Given the description of an element on the screen output the (x, y) to click on. 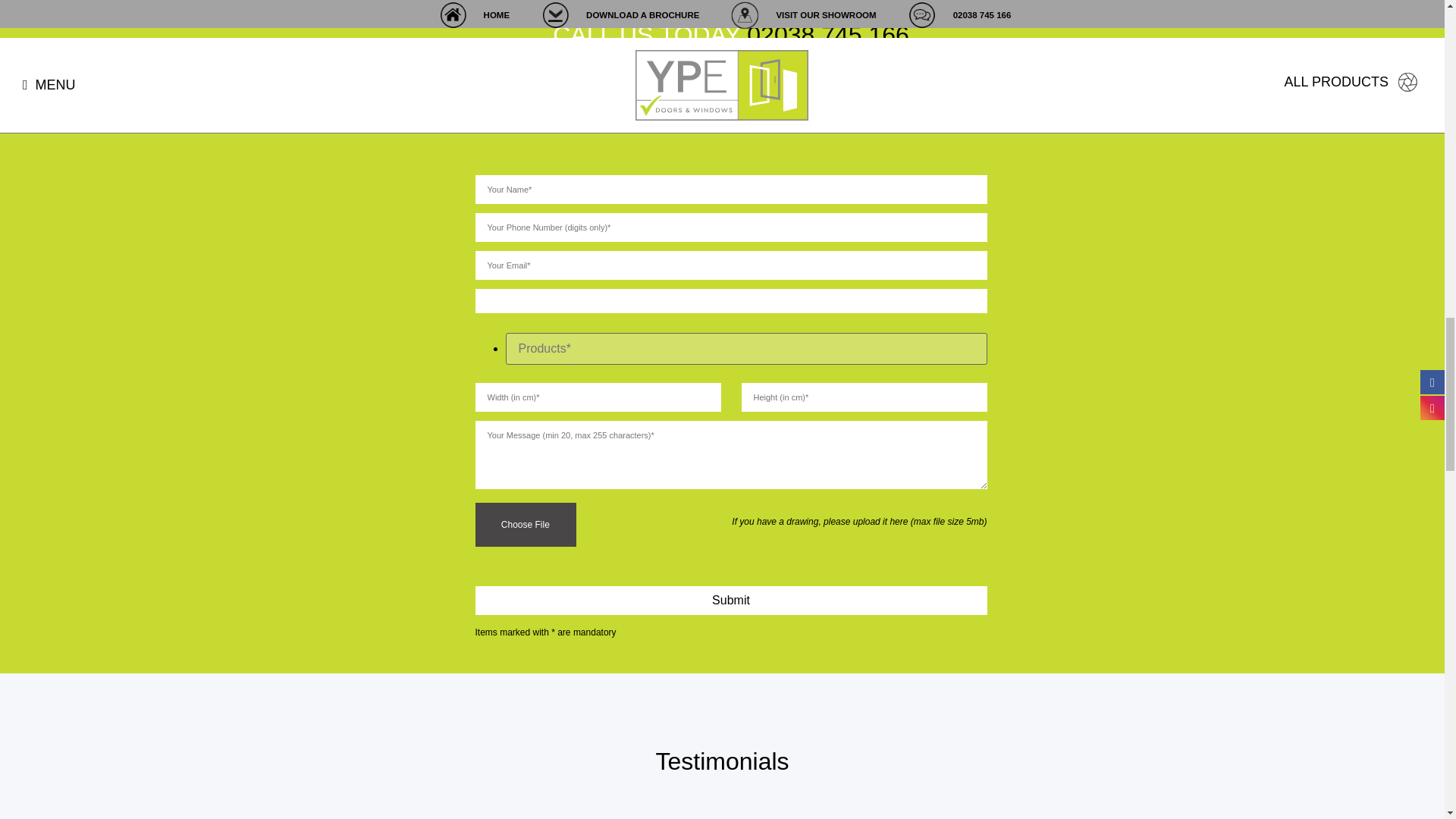
Submit (730, 600)
